Given the description of an element on the screen output the (x, y) to click on. 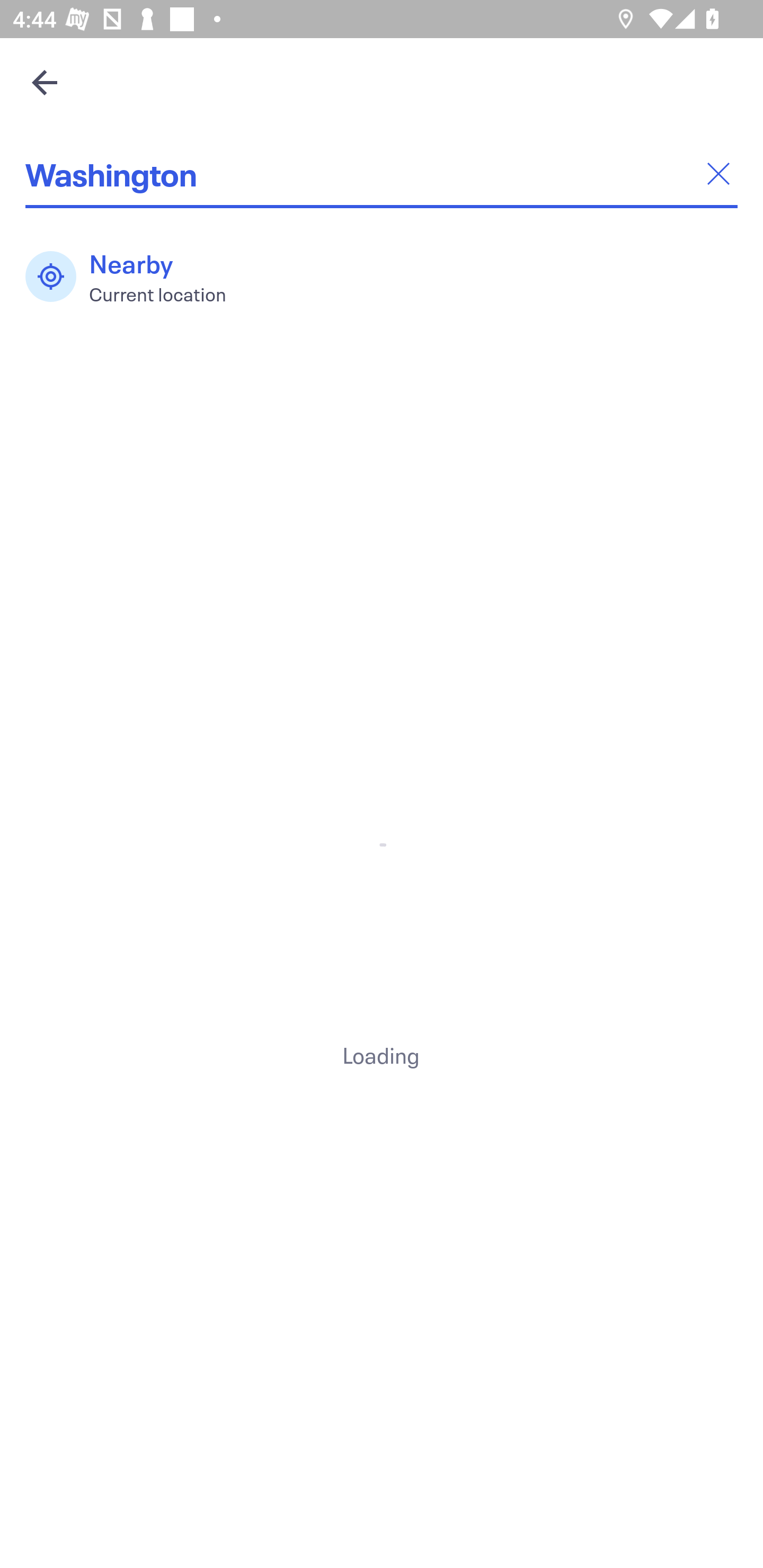
Navigate up (44, 82)
Washington (381, 173)
Nearby Current location (135, 276)
